Given the description of an element on the screen output the (x, y) to click on. 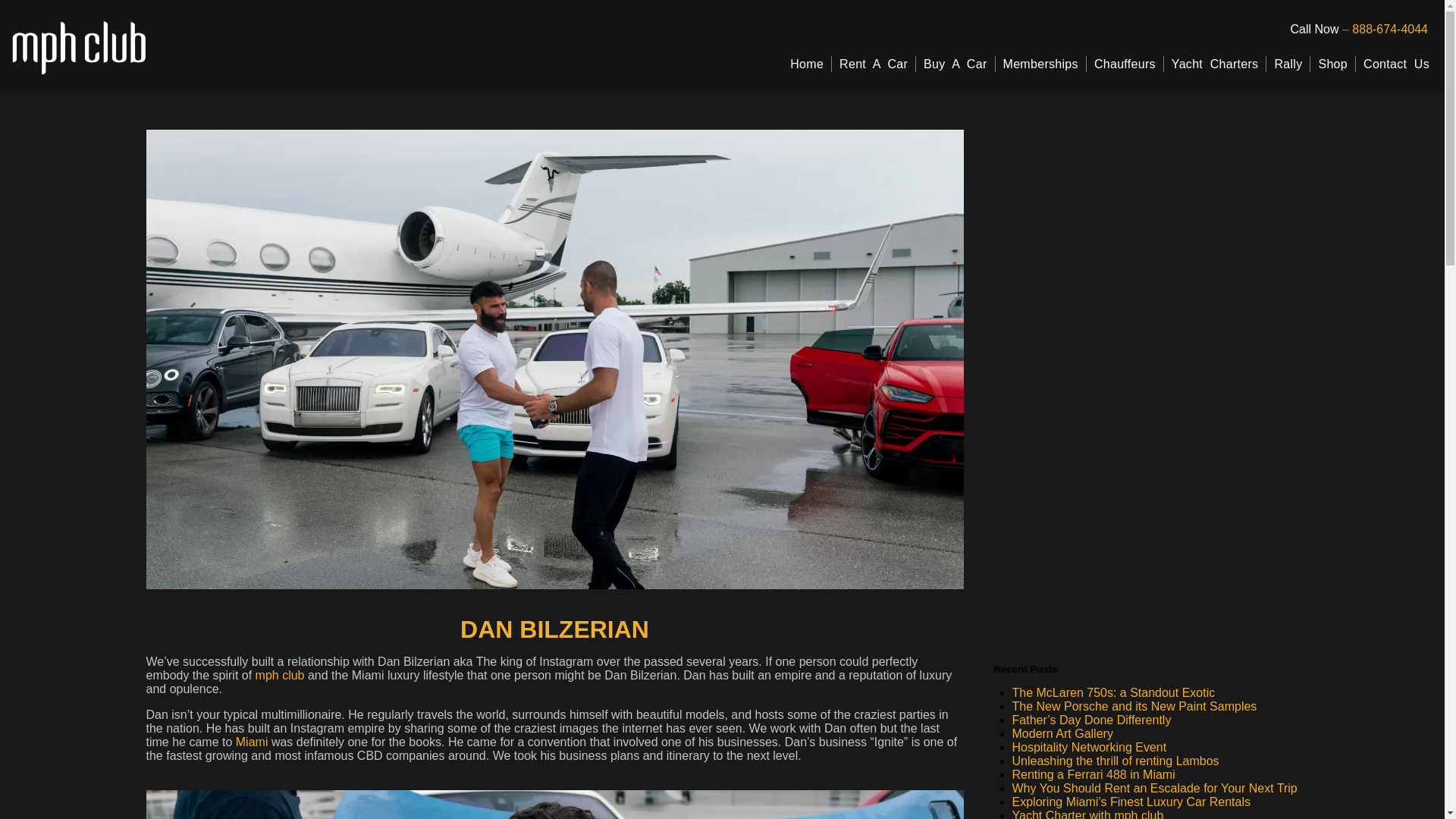
Rally (1287, 64)
Memberships (1040, 64)
888-674-4044 (1390, 29)
Home (807, 64)
Buy A Car (954, 64)
Shop (1332, 64)
Rent A Car (873, 64)
Contact Us (1396, 64)
Yacht Charters (1214, 64)
Chauffeurs (1124, 64)
